Given the description of an element on the screen output the (x, y) to click on. 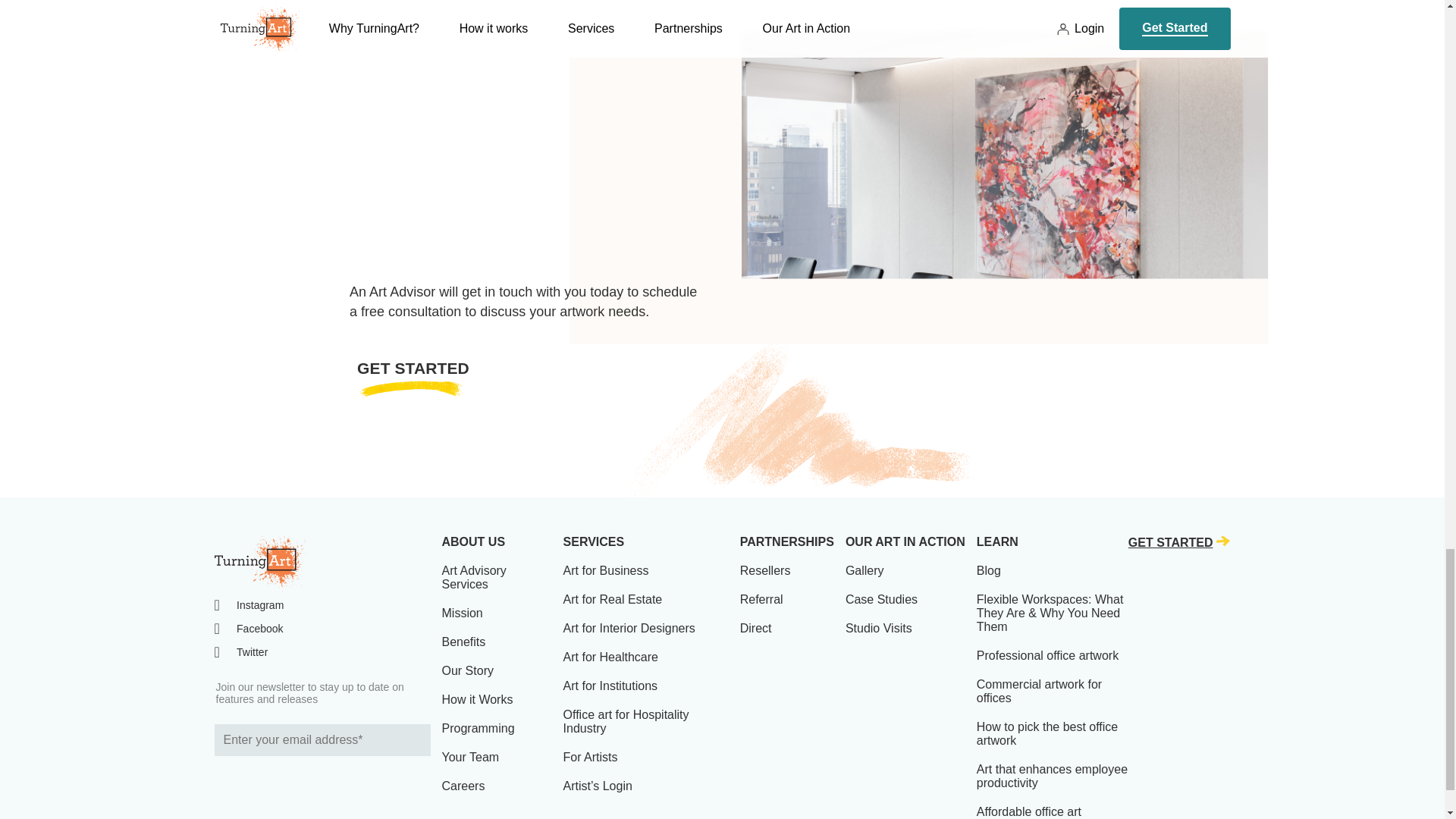
Customer reviews powered by Trustpilot (321, 780)
Submit (415, 739)
